Given the description of an element on the screen output the (x, y) to click on. 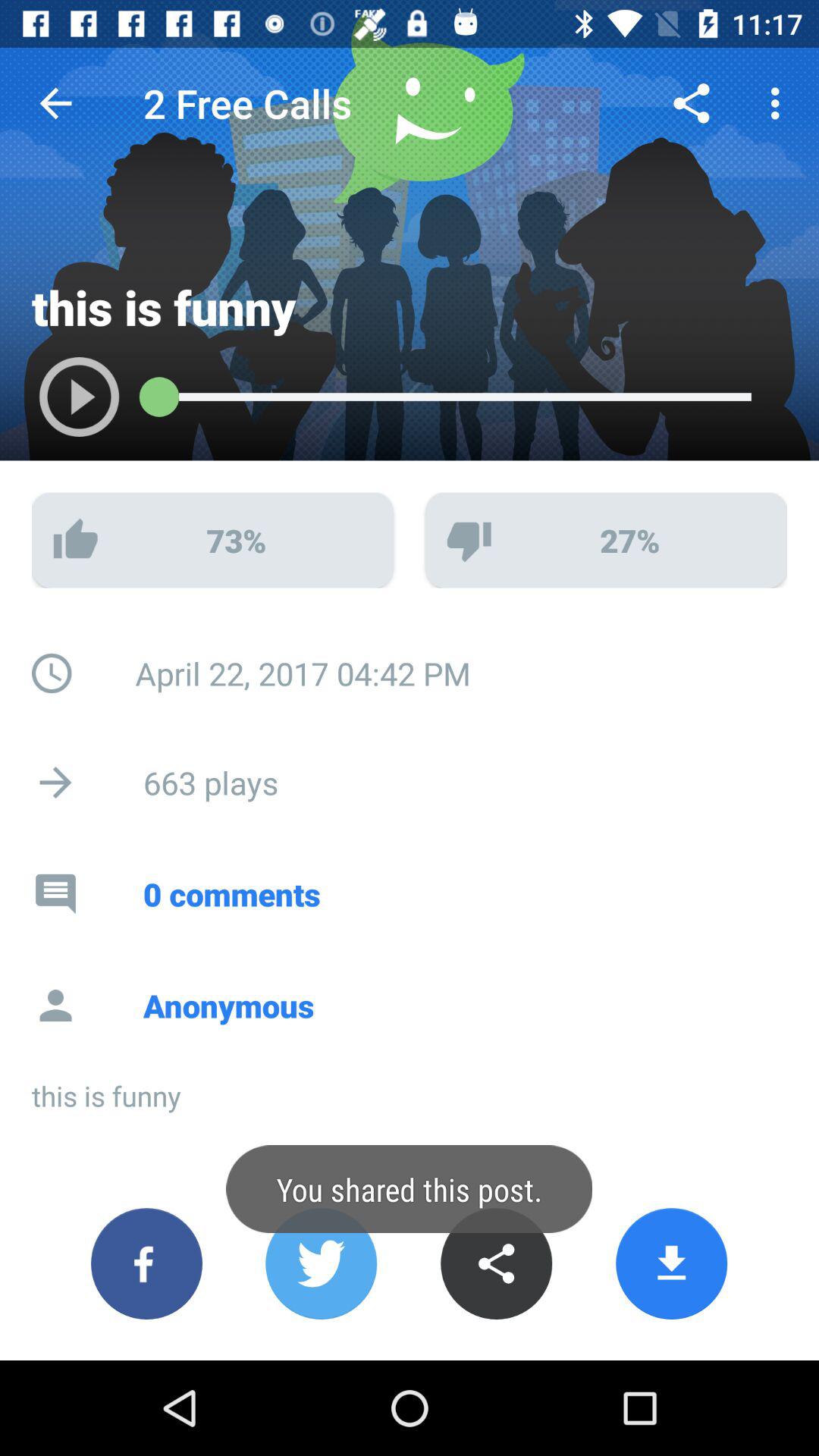
share on twitter (321, 1263)
